Given the description of an element on the screen output the (x, y) to click on. 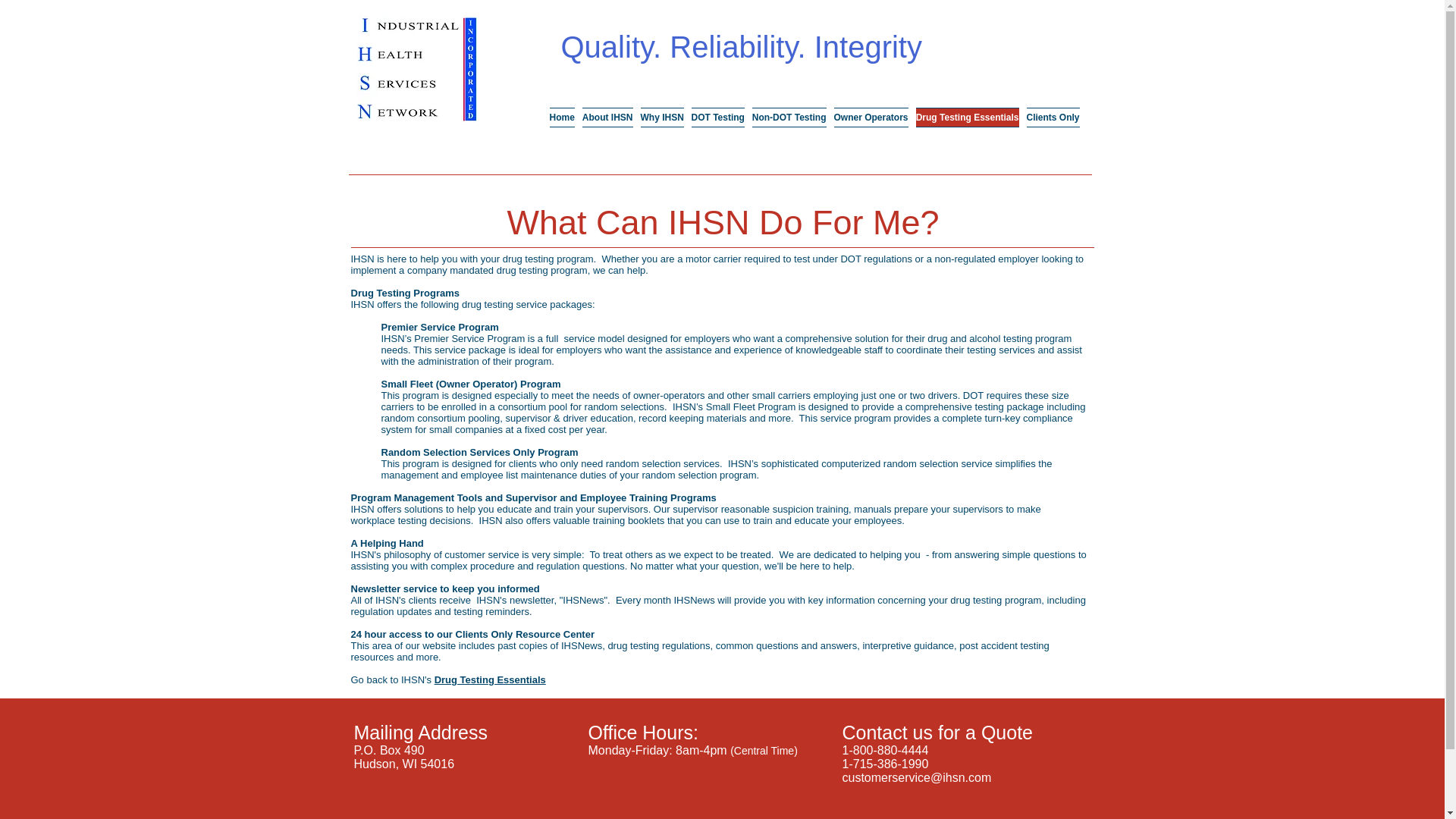
Non-DOT Testing (788, 117)
Home (562, 117)
Owner Operators (870, 117)
Drug Testing Essentials (489, 679)
Clients Only (1050, 117)
DOT Testing (717, 117)
Why IHSN (662, 117)
1-800-880-4444 (884, 749)
Drug Testing Essentials (966, 117)
About IHSN (607, 117)
